Given the description of an element on the screen output the (x, y) to click on. 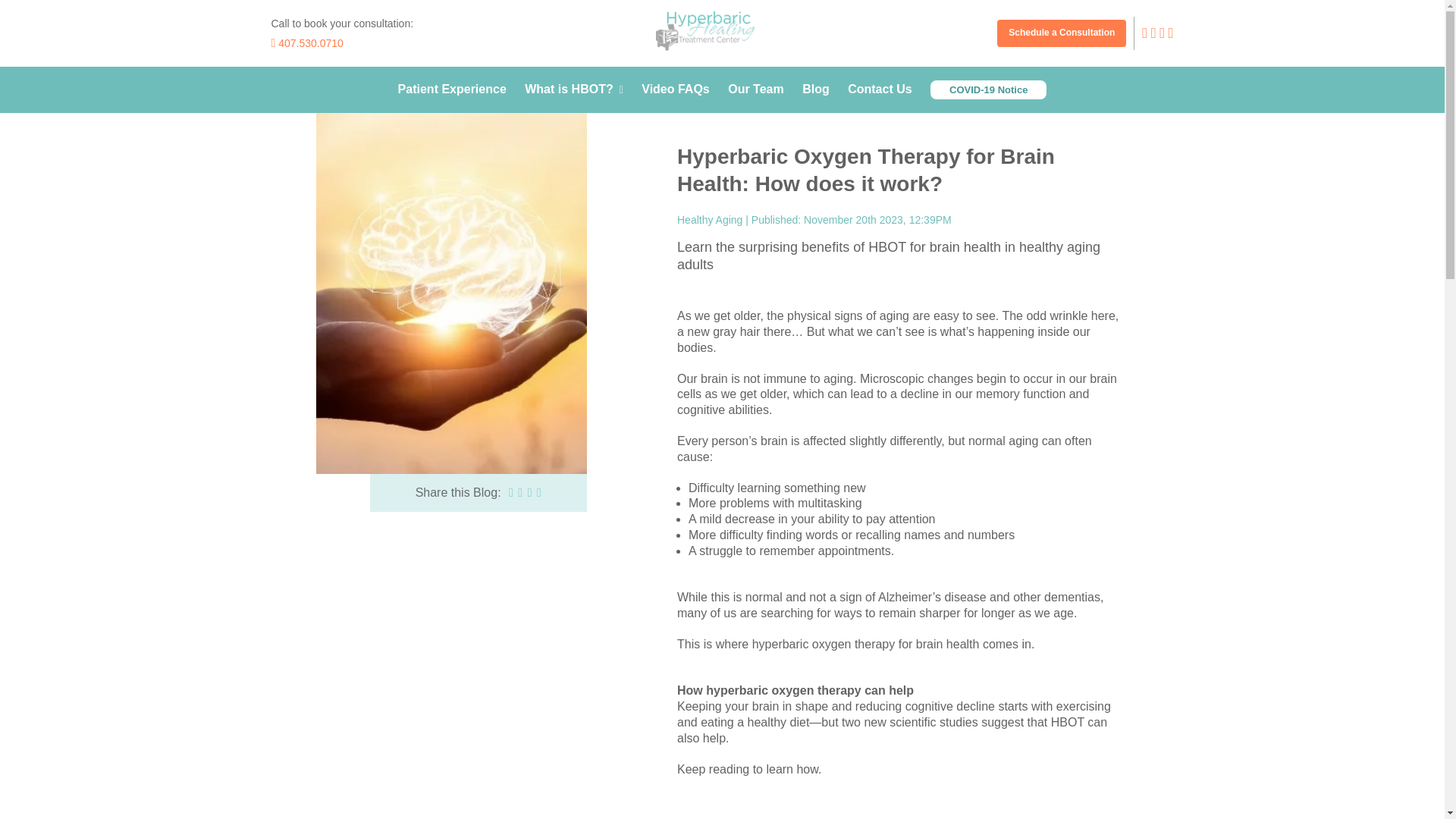
What is HBOT? (573, 88)
COVID-19 Notice (988, 89)
Blog (815, 88)
Patient Experience (451, 88)
Our Team (756, 88)
Contact Us (879, 88)
407.530.0710 (306, 42)
Schedule a Consultation (1061, 32)
Video FAQs (676, 88)
